Given the description of an element on the screen output the (x, y) to click on. 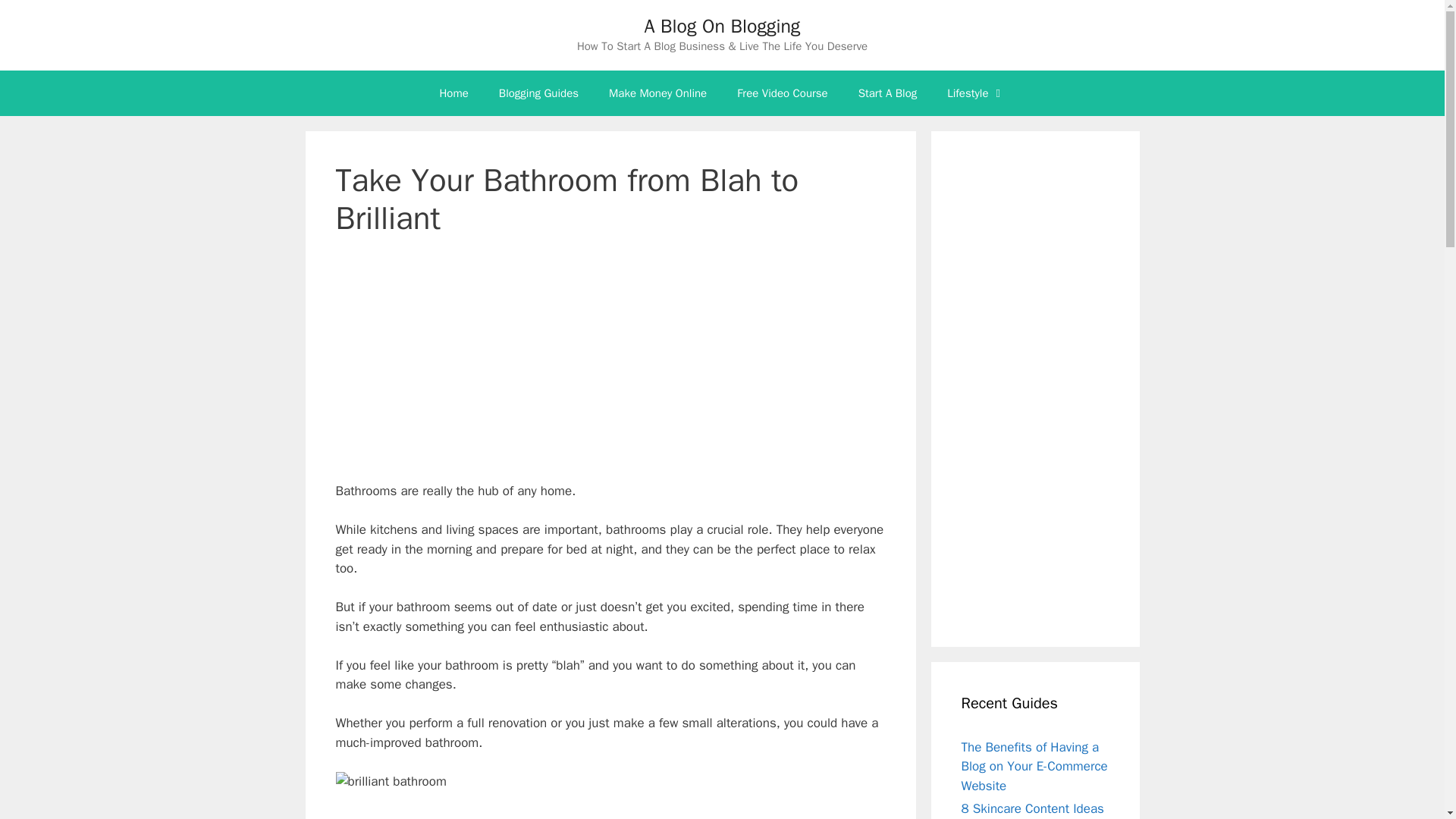
The Benefits of Having a Blog on Your E-Commerce Website (1034, 765)
Lifestyle (975, 92)
A Blog On Blogging (722, 25)
Advertisement (609, 368)
Make Money Online (658, 92)
Free Video Course (782, 92)
Home (453, 92)
Start A Blog (888, 92)
Blogging Guides (538, 92)
8 Skincare Content Ideas For Your Blog (1031, 809)
